Given the description of an element on the screen output the (x, y) to click on. 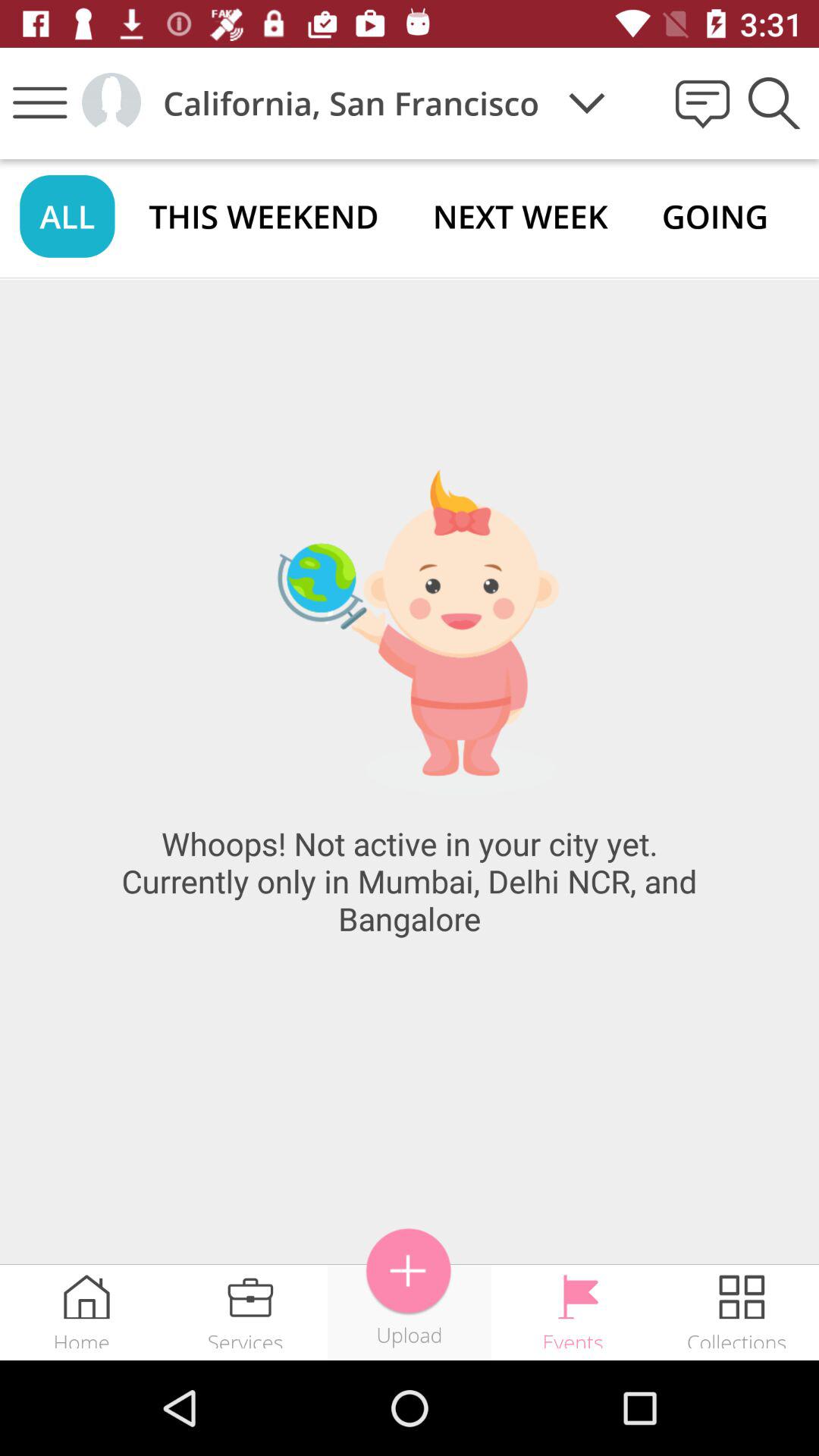
tap icon above all (39, 102)
